Given the description of an element on the screen output the (x, y) to click on. 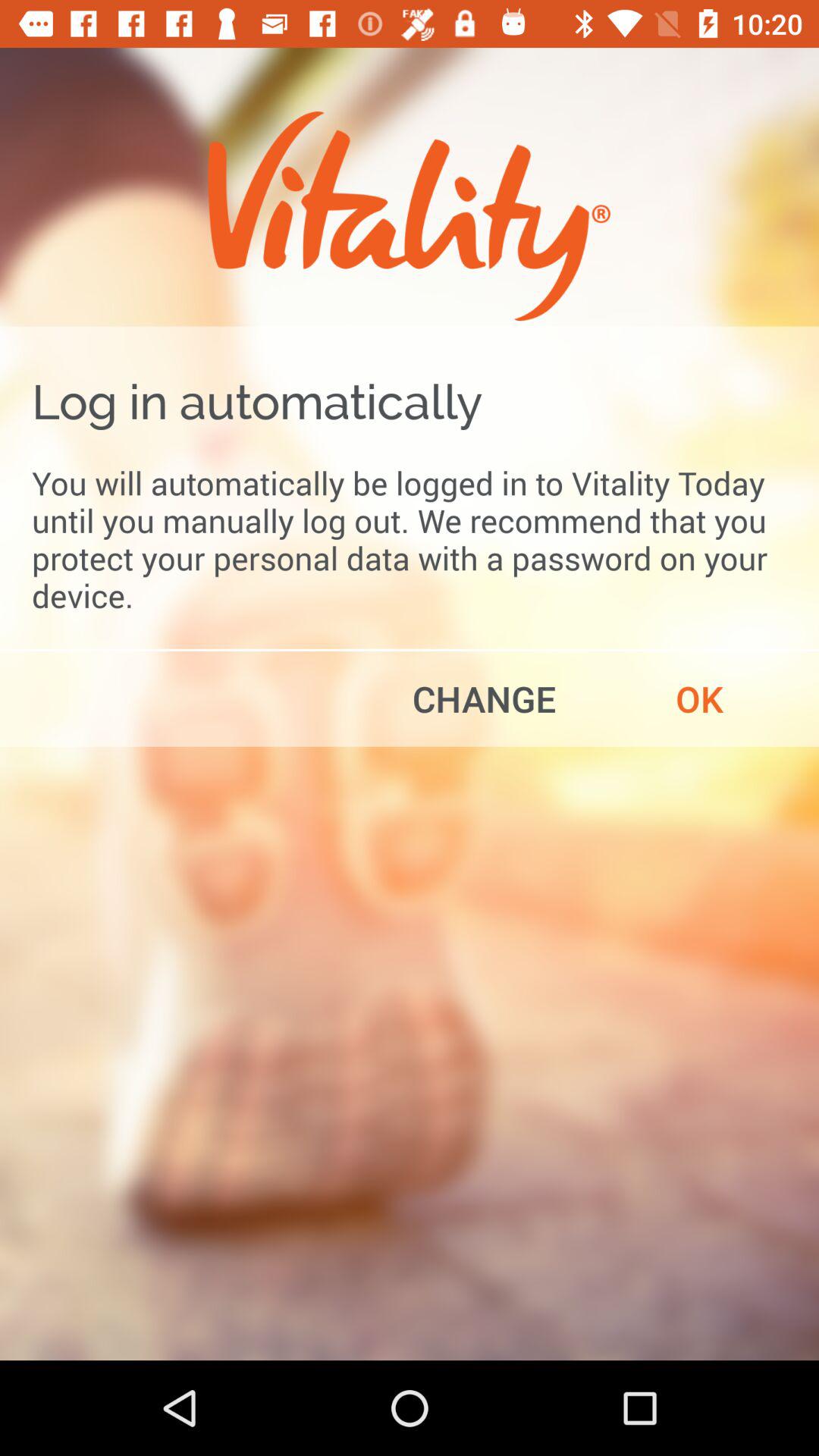
jump to the change icon (484, 698)
